Given the description of an element on the screen output the (x, y) to click on. 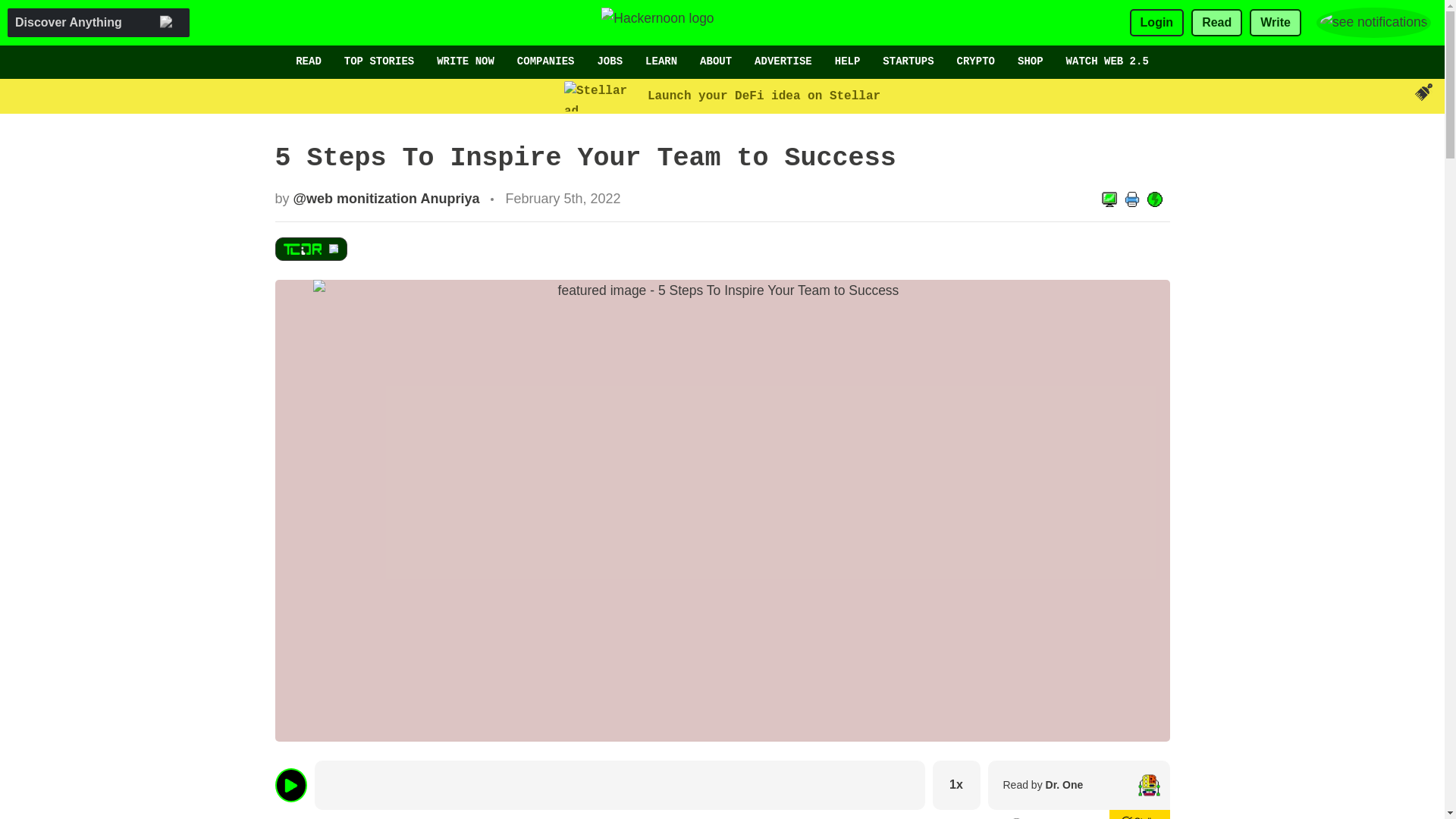
Login (1157, 22)
Write (1275, 22)
Read (1216, 22)
